Given the description of an element on the screen output the (x, y) to click on. 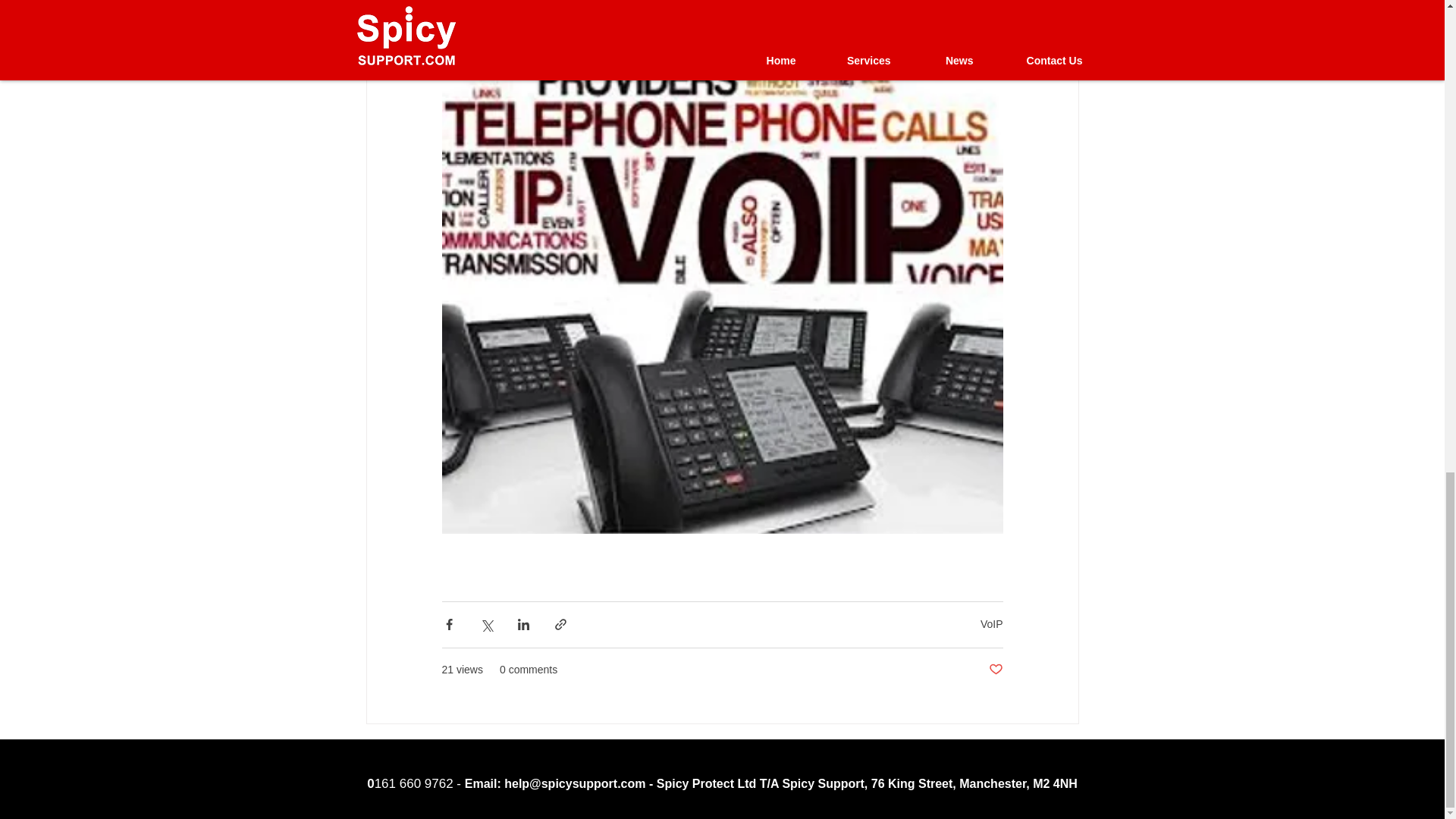
76 King Street, Manchester, M2 4NH (973, 783)
VoIP (991, 623)
Post not marked as liked (995, 669)
